Given the description of an element on the screen output the (x, y) to click on. 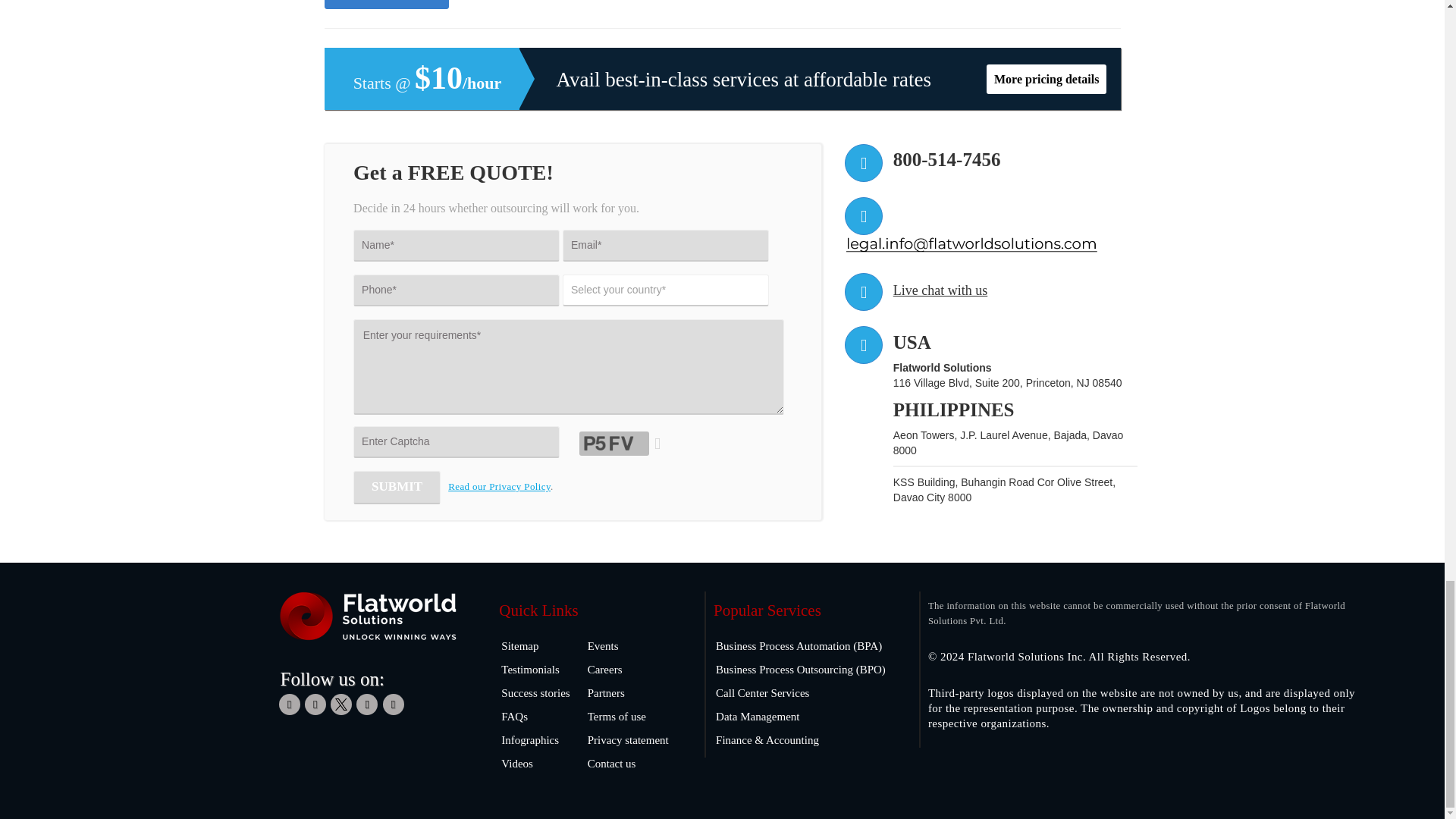
Submit (397, 487)
